Given the description of an element on the screen output the (x, y) to click on. 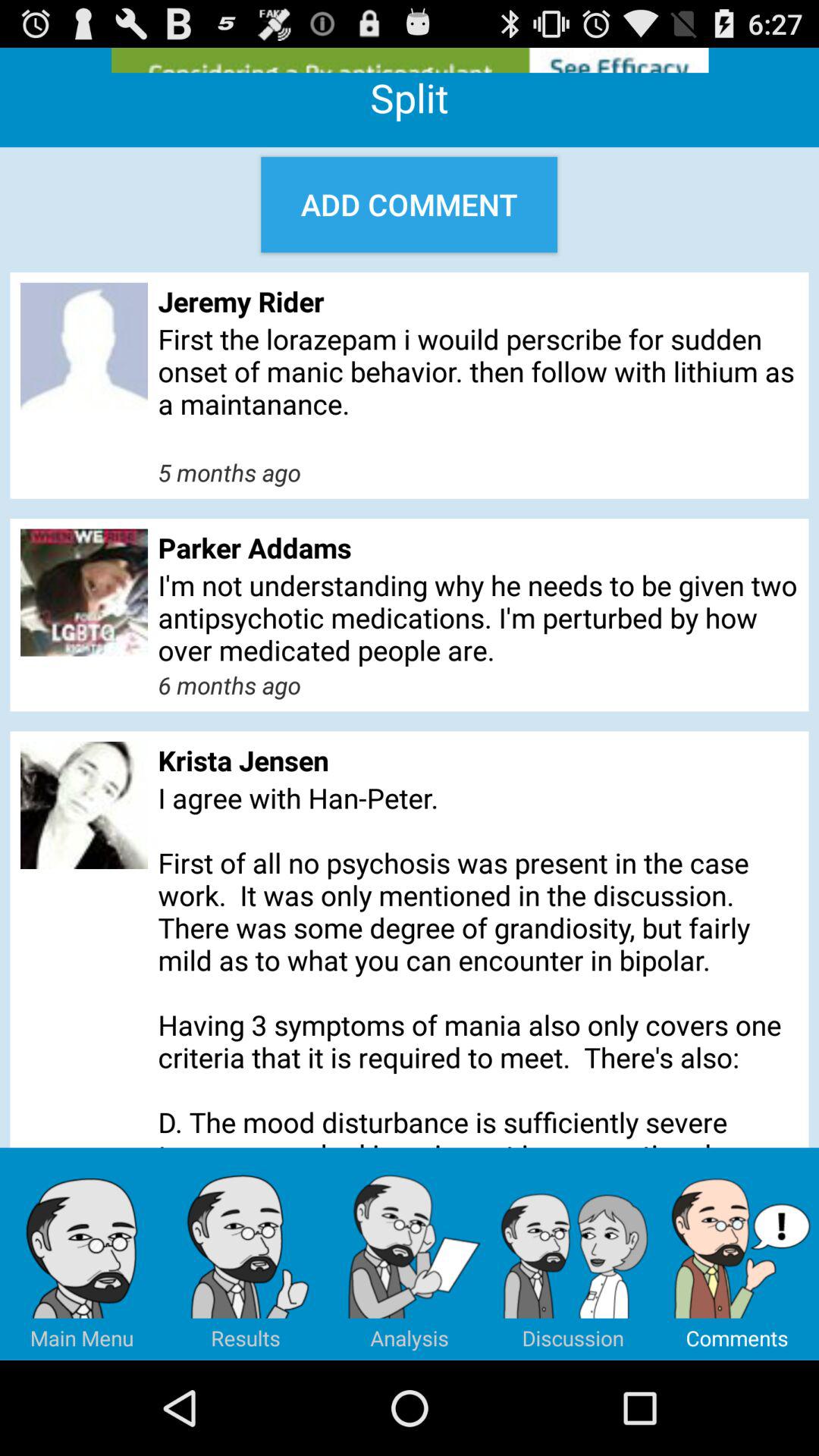
jump to the i m not app (478, 617)
